Given the description of an element on the screen output the (x, y) to click on. 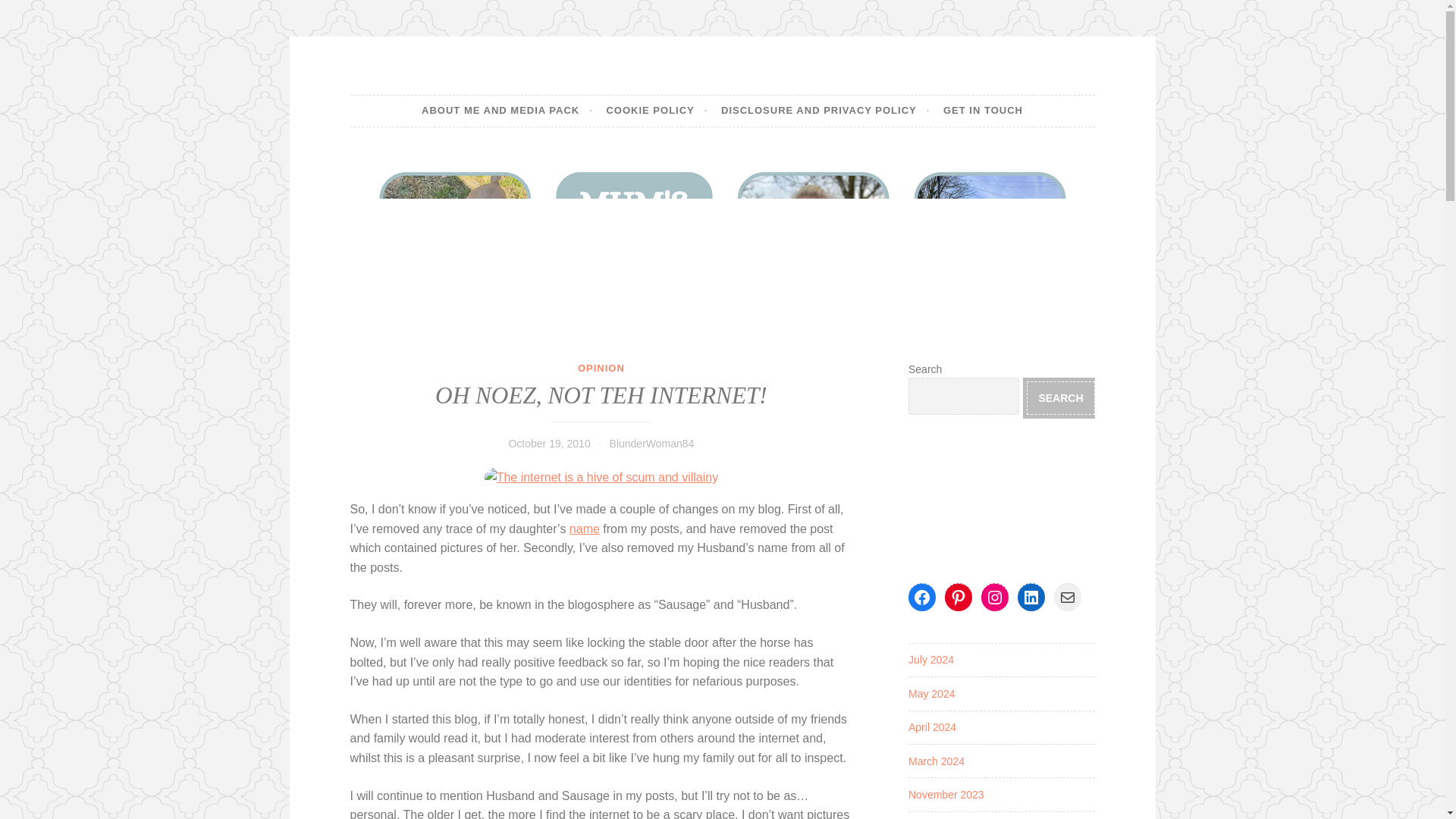
Facebook (922, 596)
ABOUT ME AND MEDIA PACK (507, 110)
October 19, 2010 (548, 443)
images (601, 477)
OPINION (601, 367)
COOKIE POLICY (656, 110)
BlunderWoman84 (652, 443)
Mail (1067, 596)
GET IN TOUCH (983, 110)
LinkedIn (1031, 596)
